Given the description of an element on the screen output the (x, y) to click on. 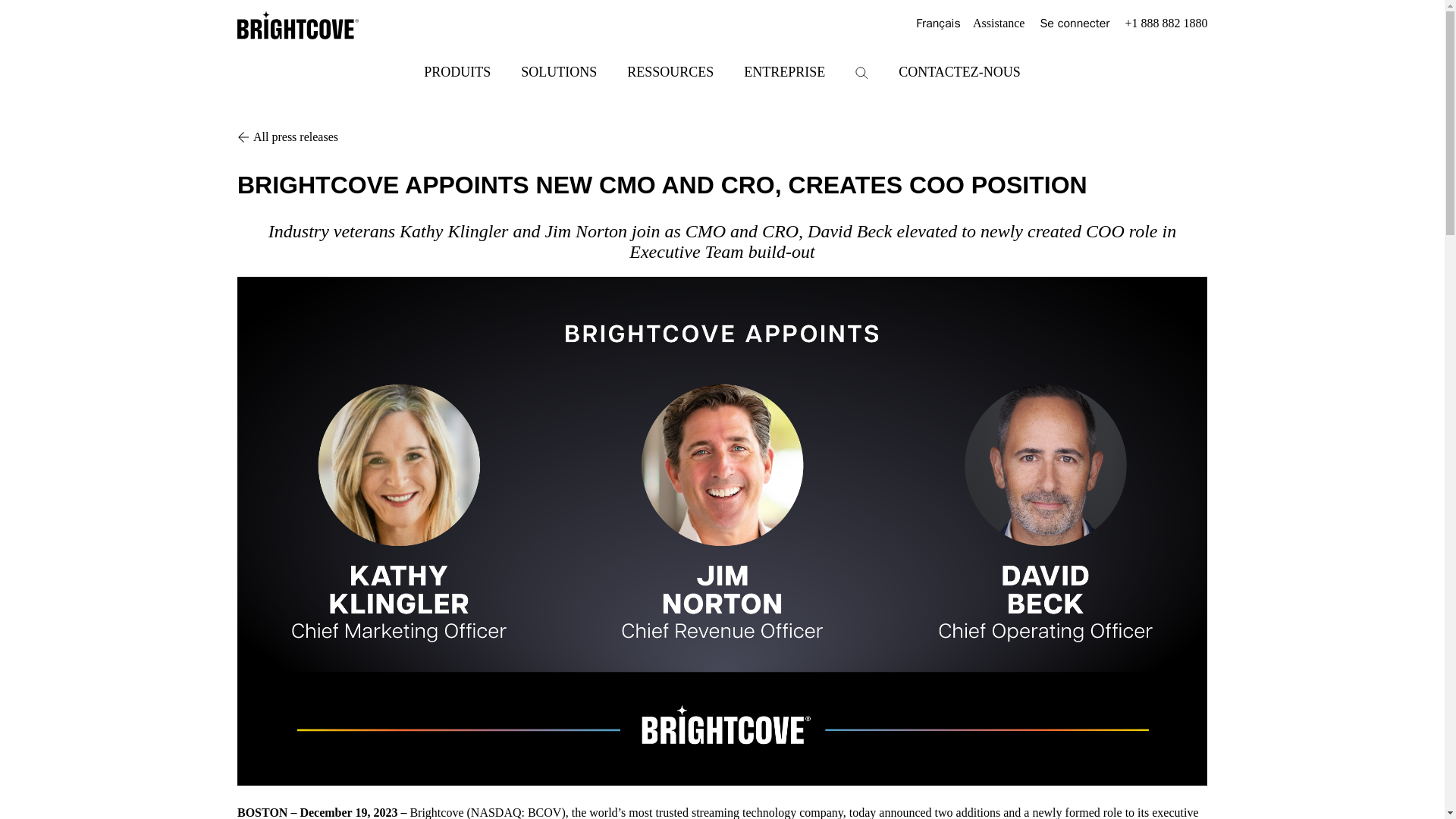
Assistance (998, 23)
Se connecter (1074, 23)
CONTACTEZ-NOUS (959, 71)
SEARCH ICONA MAGNIFYING GLASS ICON. (861, 72)
All press releases (722, 137)
